Given the description of an element on the screen output the (x, y) to click on. 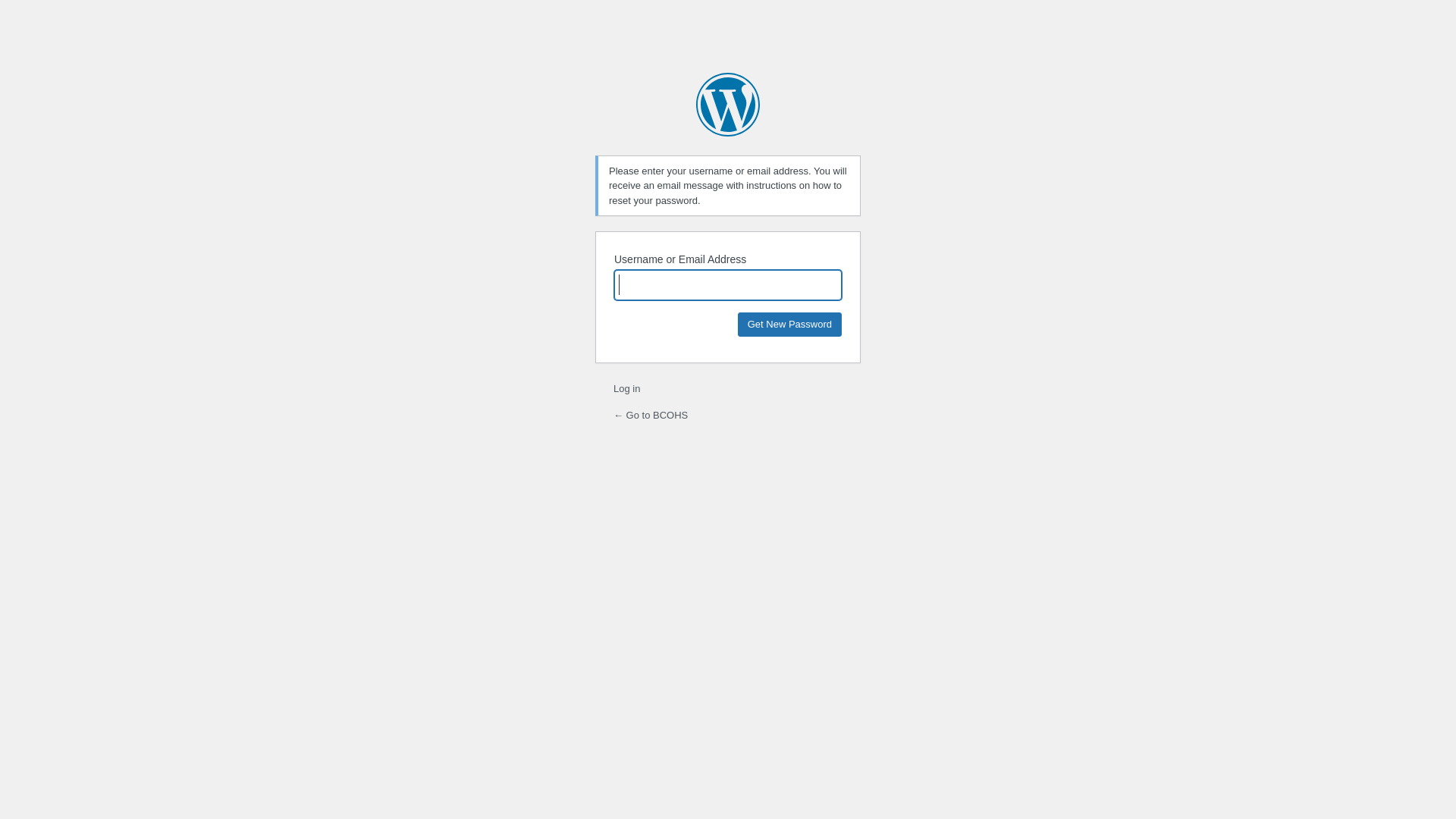
Get New Password Element type: text (789, 324)
Log in Element type: text (626, 387)
Powered by WordPress Element type: text (727, 104)
